Given the description of an element on the screen output the (x, y) to click on. 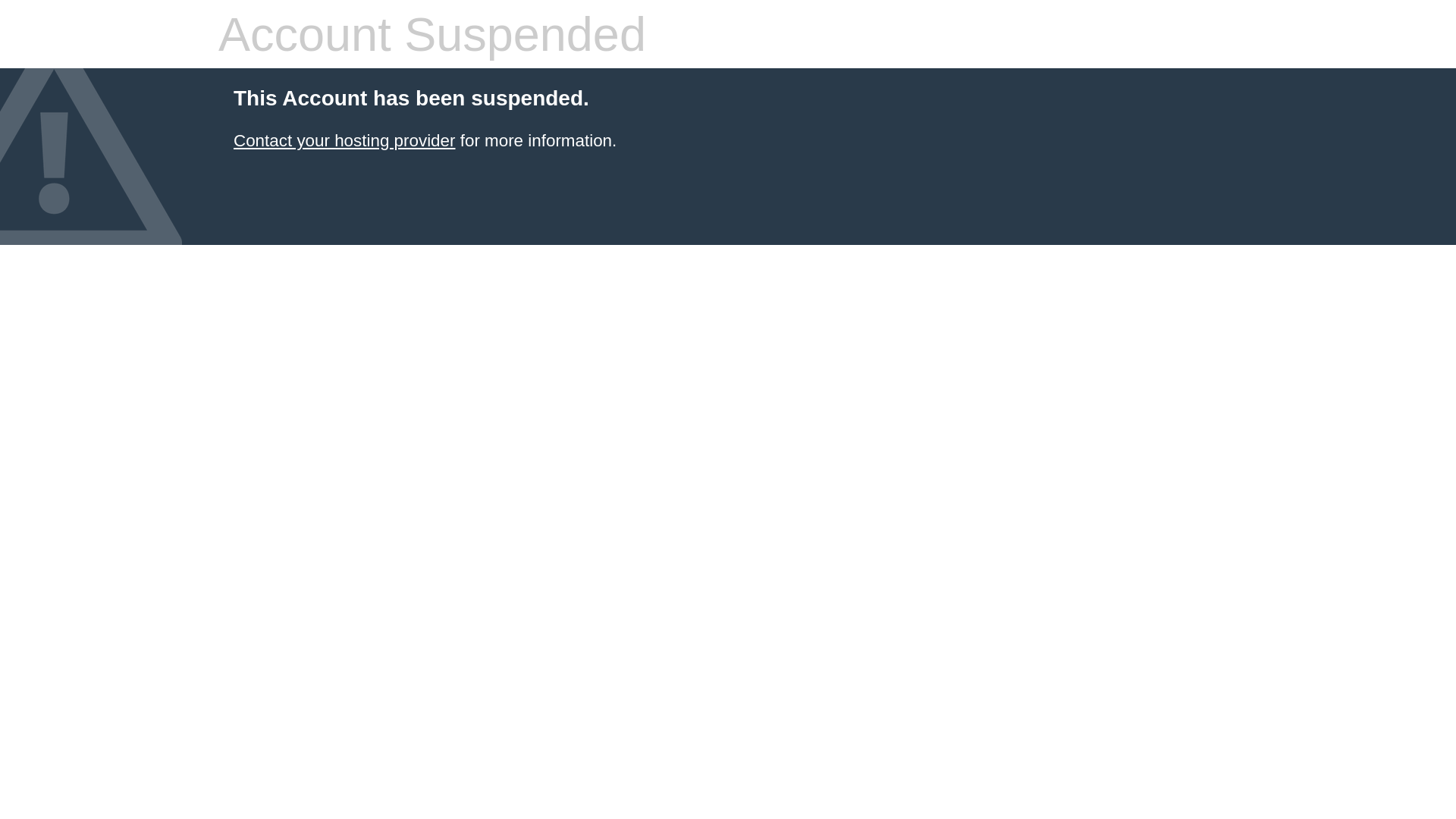
Contact your hosting provider Element type: text (344, 140)
